Given the description of an element on the screen output the (x, y) to click on. 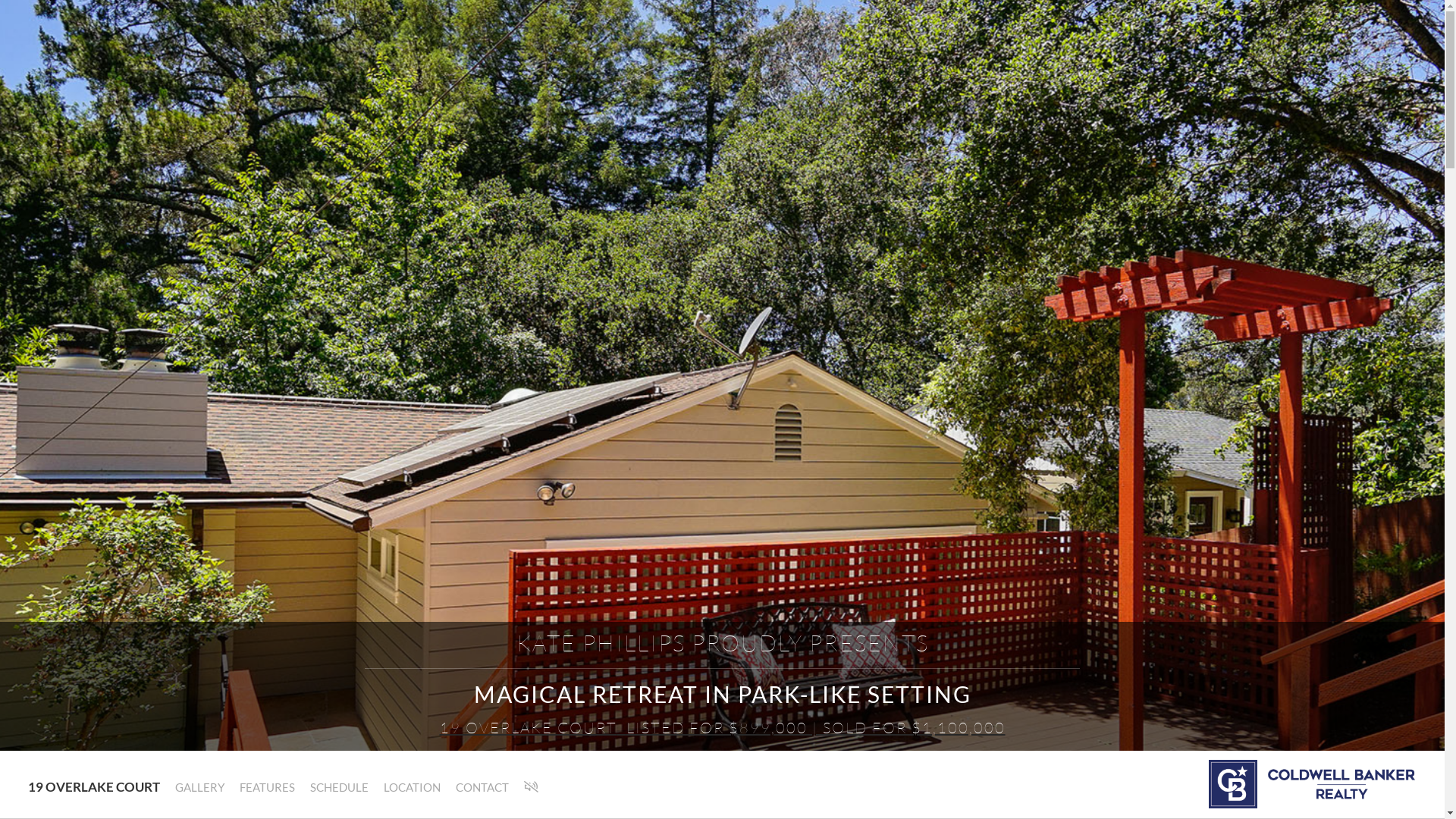
Enable Audio Element type: text (691, 23)
FEATURES Element type: text (266, 787)
SCHEDULE Element type: text (338, 787)
19 OVERLAKE COURT Element type: text (92, 785)
GALLERY Element type: text (198, 787)
LOCATION Element type: text (411, 787)
CONTACT Element type: text (481, 787)
19 OVERLAKE COURT  LISTED FOR $899,000 | SOLD FOR $1,100,000 Element type: text (722, 727)
